Given the description of an element on the screen output the (x, y) to click on. 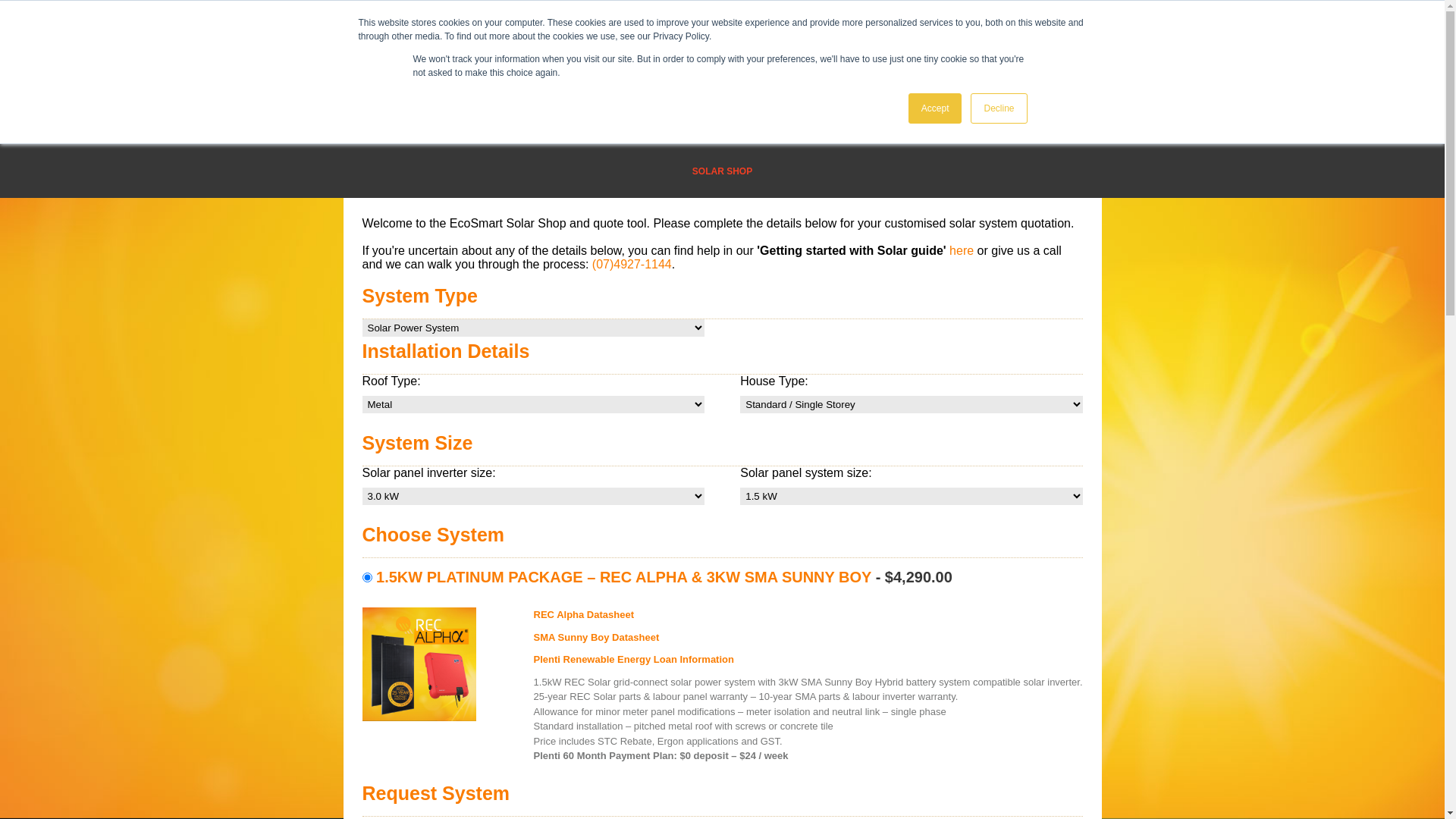
Decline Element type: text (998, 108)
Plenti Renewable Energy Loan Information Element type: text (807, 663)
REC Alpha Datasheet Element type: text (807, 618)
(07)4927-1144 Element type: text (631, 263)
here Element type: text (961, 250)
SMA Sunny Boy Datasheet Element type: text (807, 640)
Accept Element type: text (935, 108)
SOLAR SHOP Element type: text (721, 170)
